Given the description of an element on the screen output the (x, y) to click on. 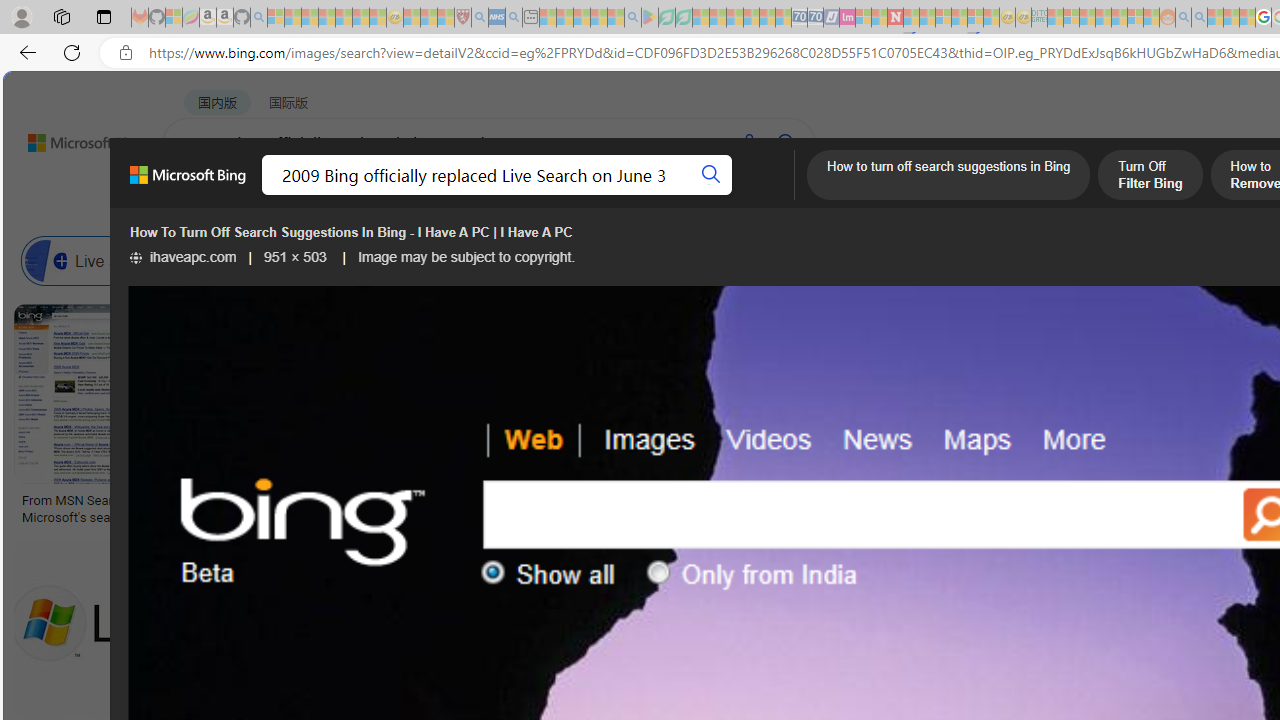
Bing Voice Search (275, 260)
utah sues federal government - Search - Sleeping (513, 17)
Dropdown Menu (793, 195)
ihaveapc.com (183, 257)
Bing Ai Search Engine Powered (943, 260)
